Given the description of an element on the screen output the (x, y) to click on. 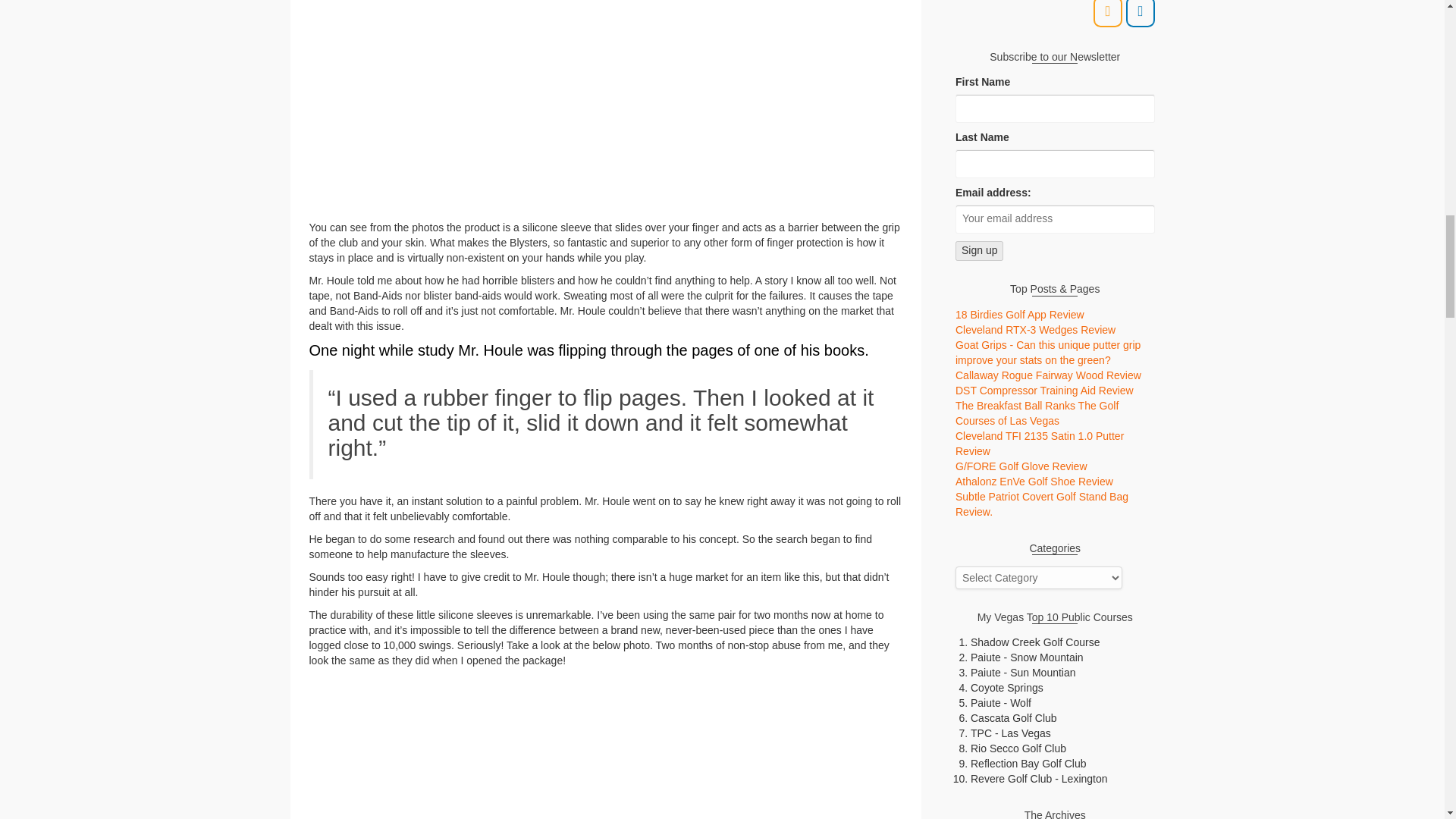
Sign up (979, 250)
